Given the description of an element on the screen output the (x, y) to click on. 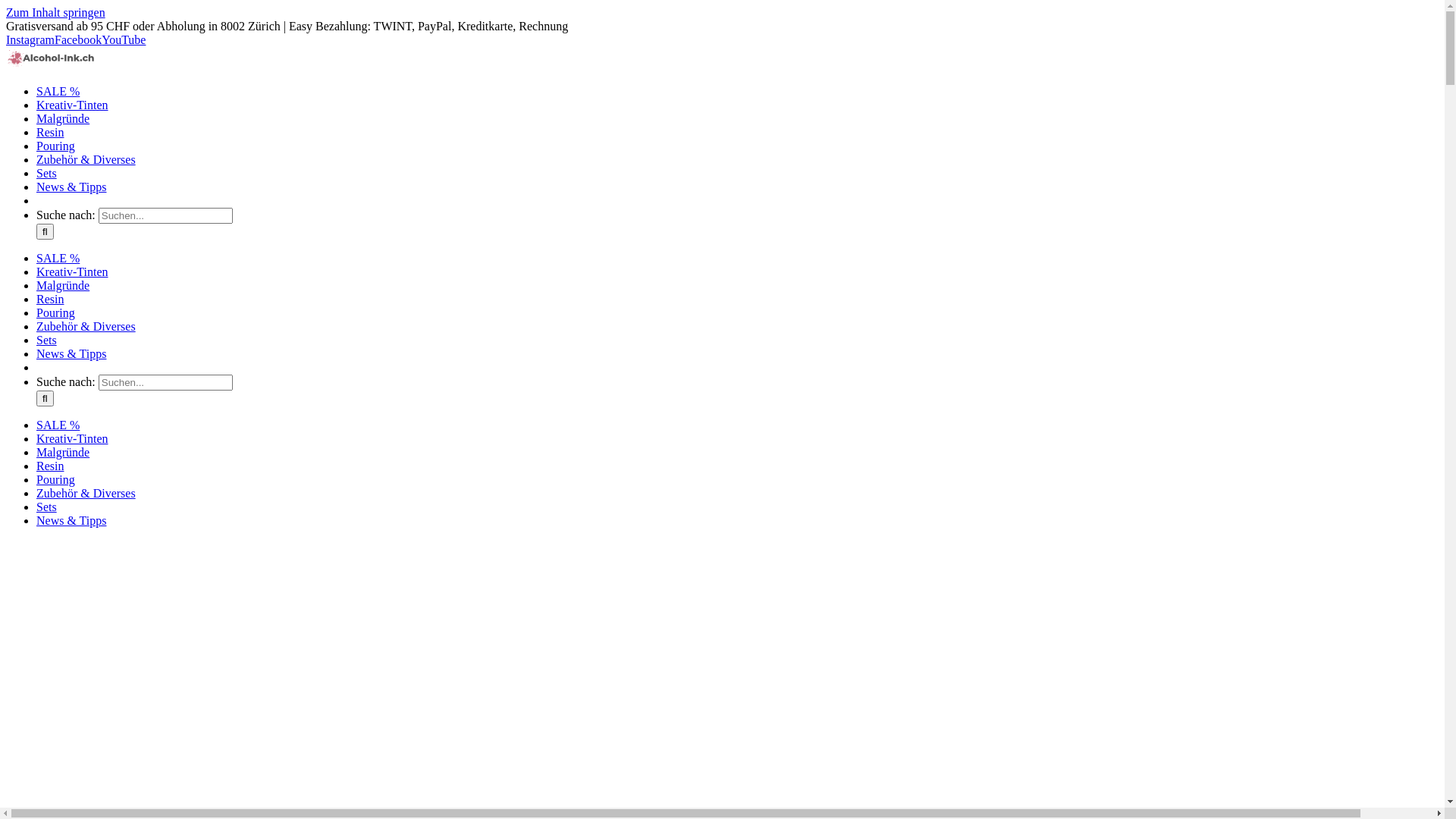
SALE % Element type: text (57, 424)
SALE % Element type: text (57, 257)
News & Tipps Element type: text (71, 353)
Zum Inhalt springen Element type: text (55, 12)
Facebook Element type: text (77, 39)
Sets Element type: text (46, 172)
Instagram Element type: text (30, 39)
Sets Element type: text (46, 506)
YouTube Element type: text (123, 39)
Sets Element type: text (46, 339)
Kreativ-Tinten Element type: text (72, 104)
SALE % Element type: text (57, 90)
Pouring Element type: text (55, 145)
Resin Element type: text (49, 465)
News & Tipps Element type: text (71, 520)
Pouring Element type: text (55, 479)
Resin Element type: text (49, 131)
Kreativ-Tinten Element type: text (72, 438)
Kreativ-Tinten Element type: text (72, 271)
Resin Element type: text (49, 298)
News & Tipps Element type: text (71, 186)
Pouring Element type: text (55, 312)
